Given the description of an element on the screen output the (x, y) to click on. 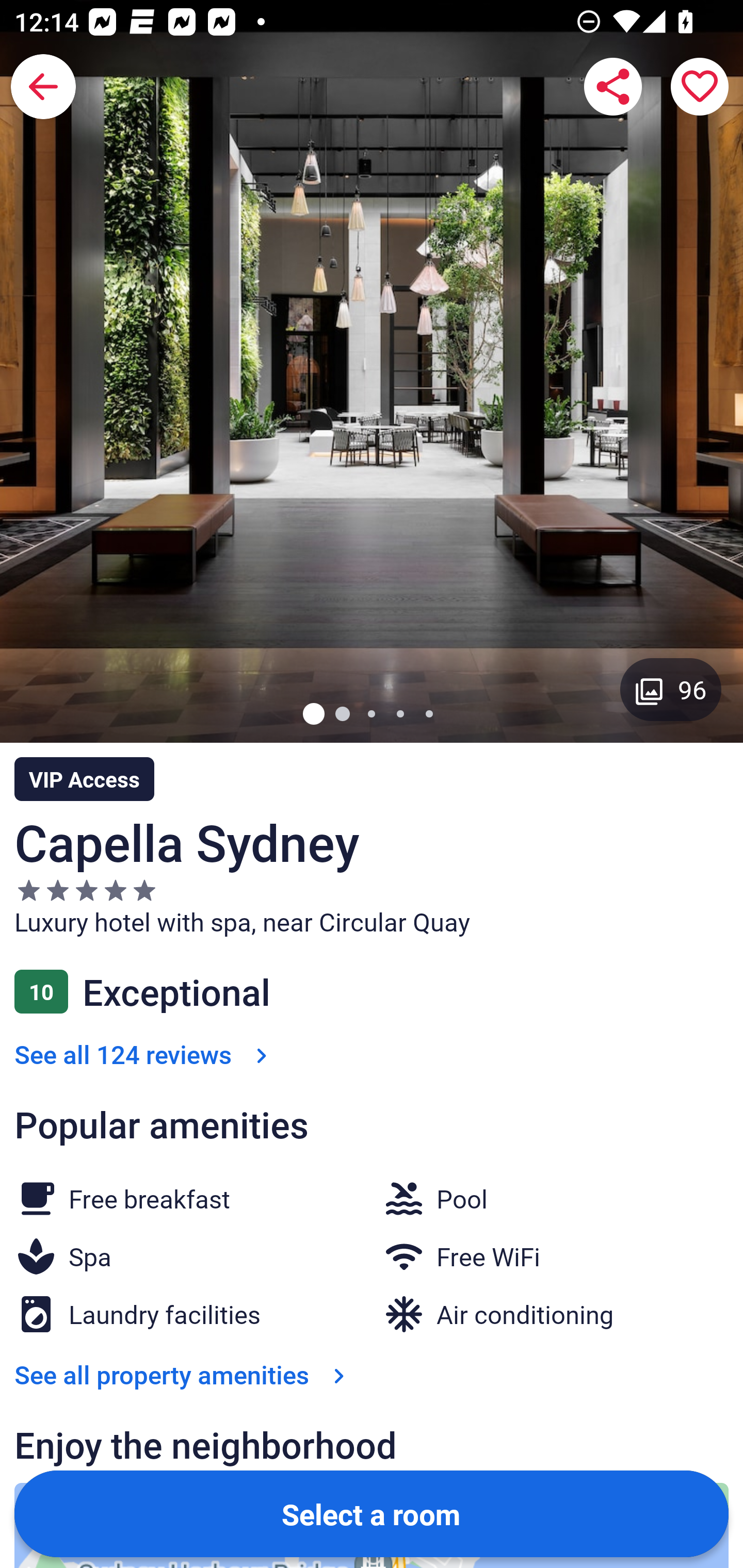
Back (43, 86)
Save property to a trip (699, 86)
Share Capella Sydney (612, 87)
Gallery button with 96 images (670, 689)
See all 124 reviews See all 124 reviews Link (144, 1054)
See all property amenities (183, 1374)
Select a room Button Select a room (371, 1513)
